Given the description of an element on the screen output the (x, y) to click on. 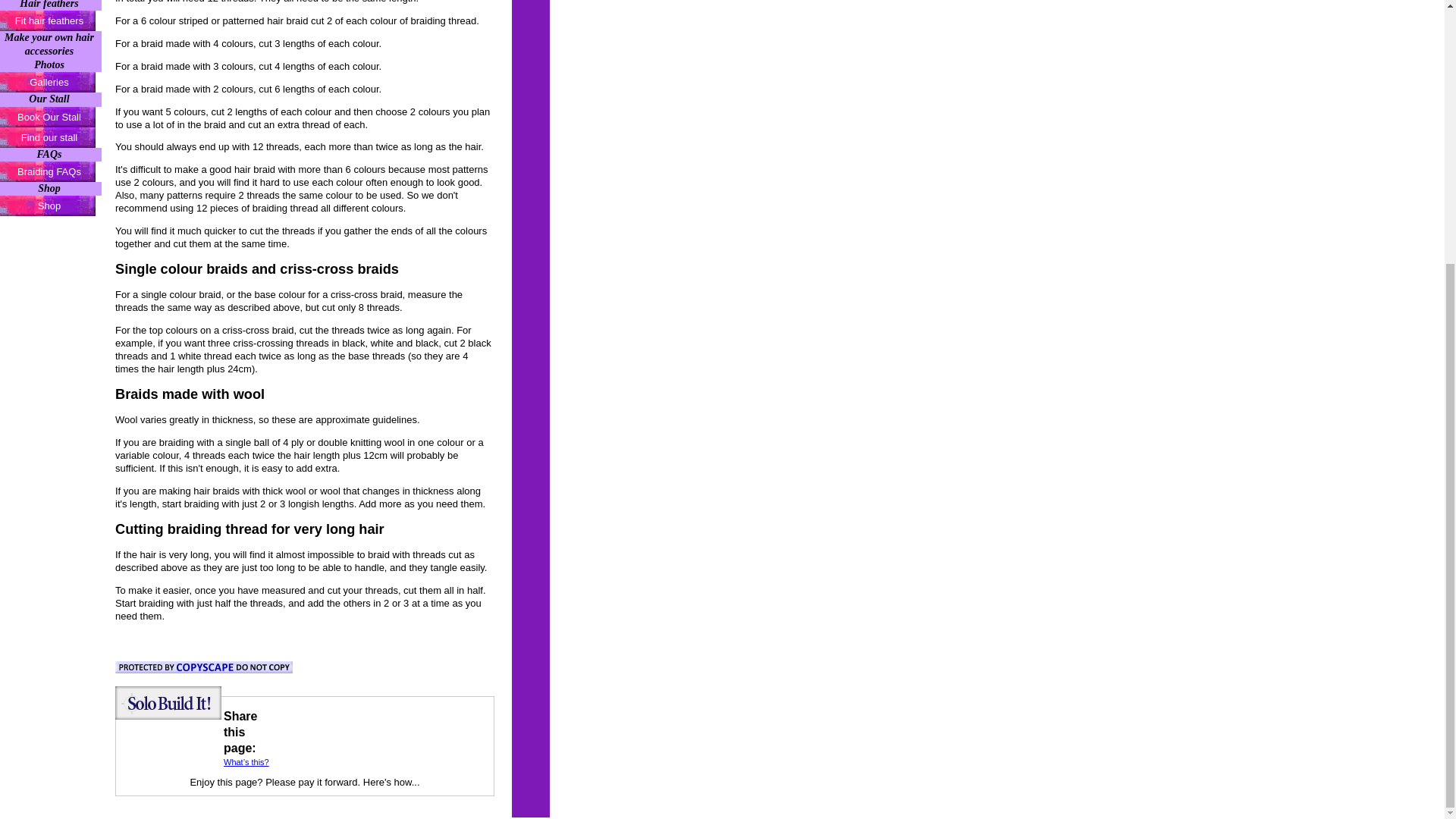
Braiding FAQs (50, 171)
Galleries (50, 82)
Fit hair feathers (50, 20)
Find our stall (50, 137)
Shop (50, 205)
Book Our Stall (50, 116)
